Given the description of an element on the screen output the (x, y) to click on. 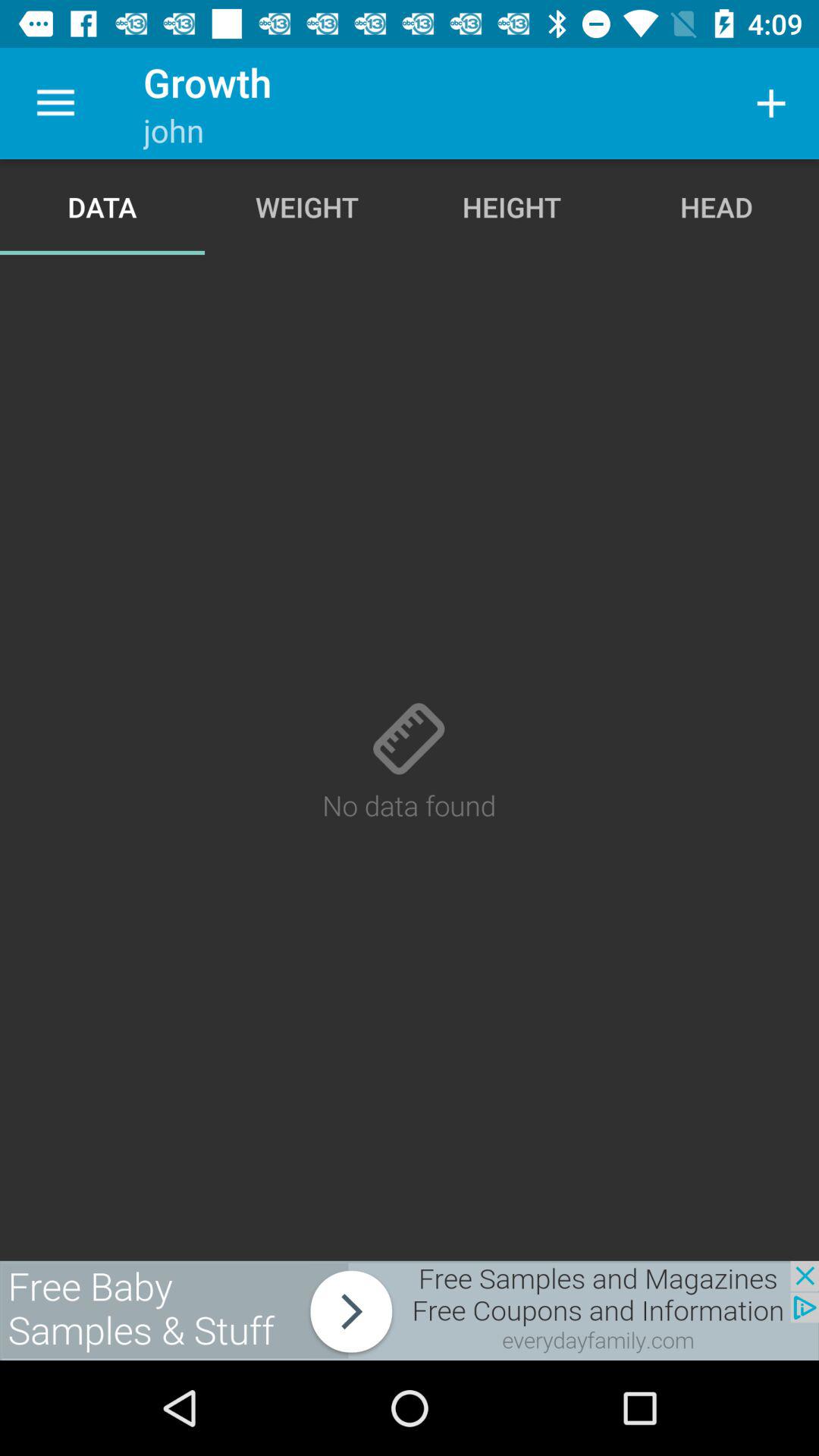
view advertisement (409, 1310)
